Given the description of an element on the screen output the (x, y) to click on. 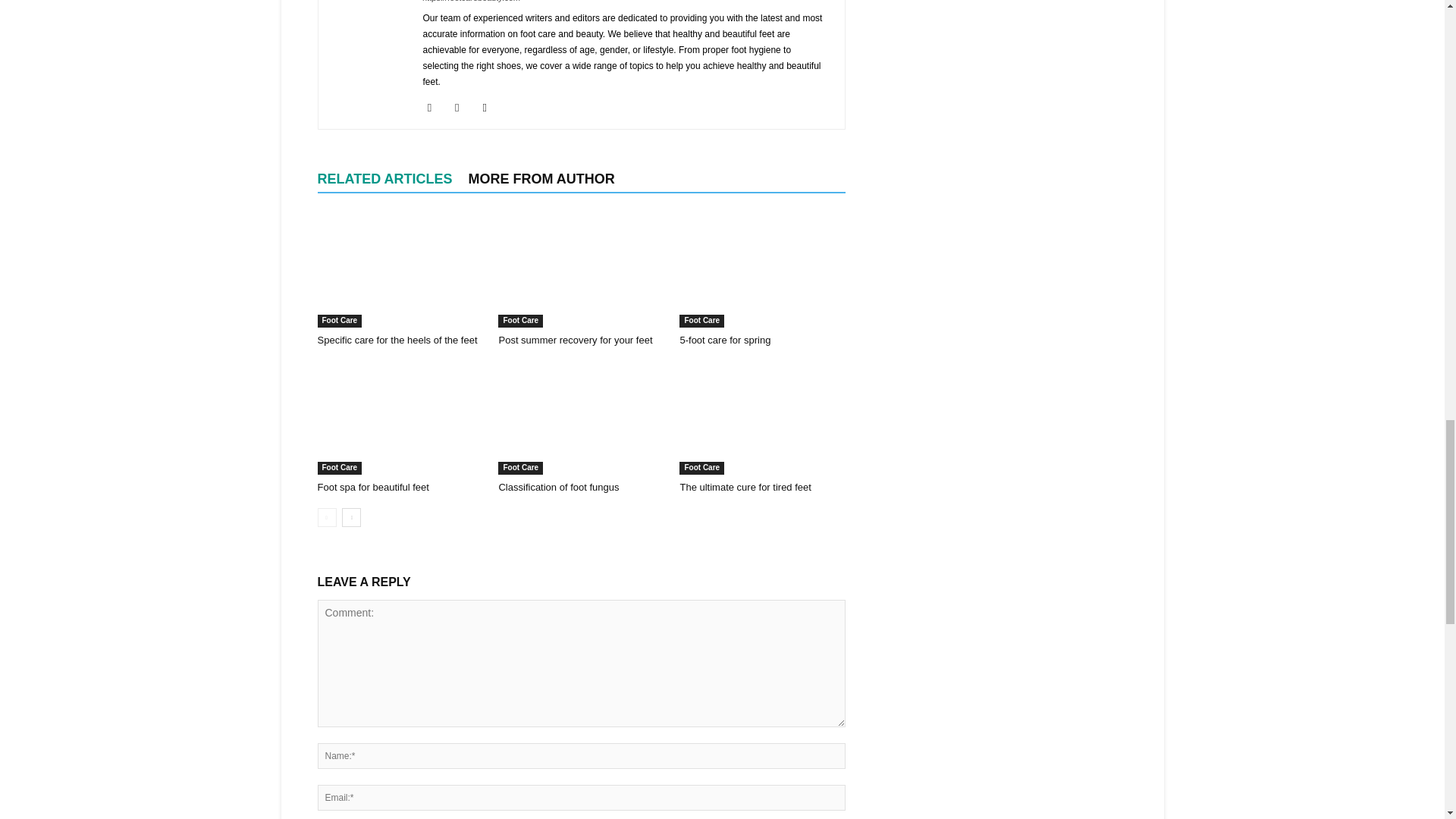
Specific care for the heels of the feet (399, 270)
Facebook (435, 107)
Pinterest (462, 107)
Twitter (489, 107)
